Given the description of an element on the screen output the (x, y) to click on. 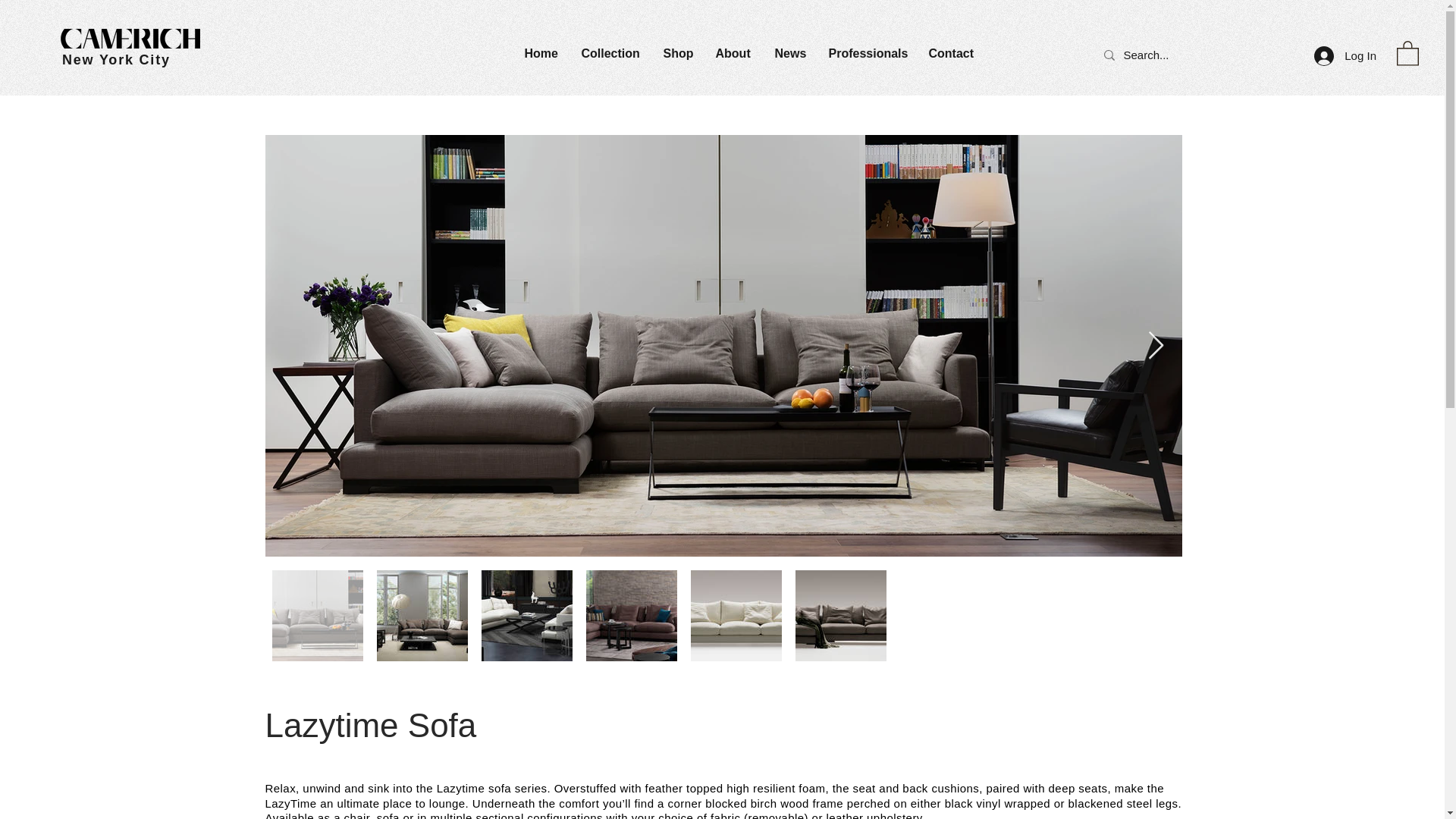
Log In (1345, 54)
Shop (678, 53)
Home (540, 53)
Professionals (866, 53)
New York City (116, 59)
News (789, 53)
About (732, 53)
Collection (611, 53)
Contact (953, 53)
